Given the description of an element on the screen output the (x, y) to click on. 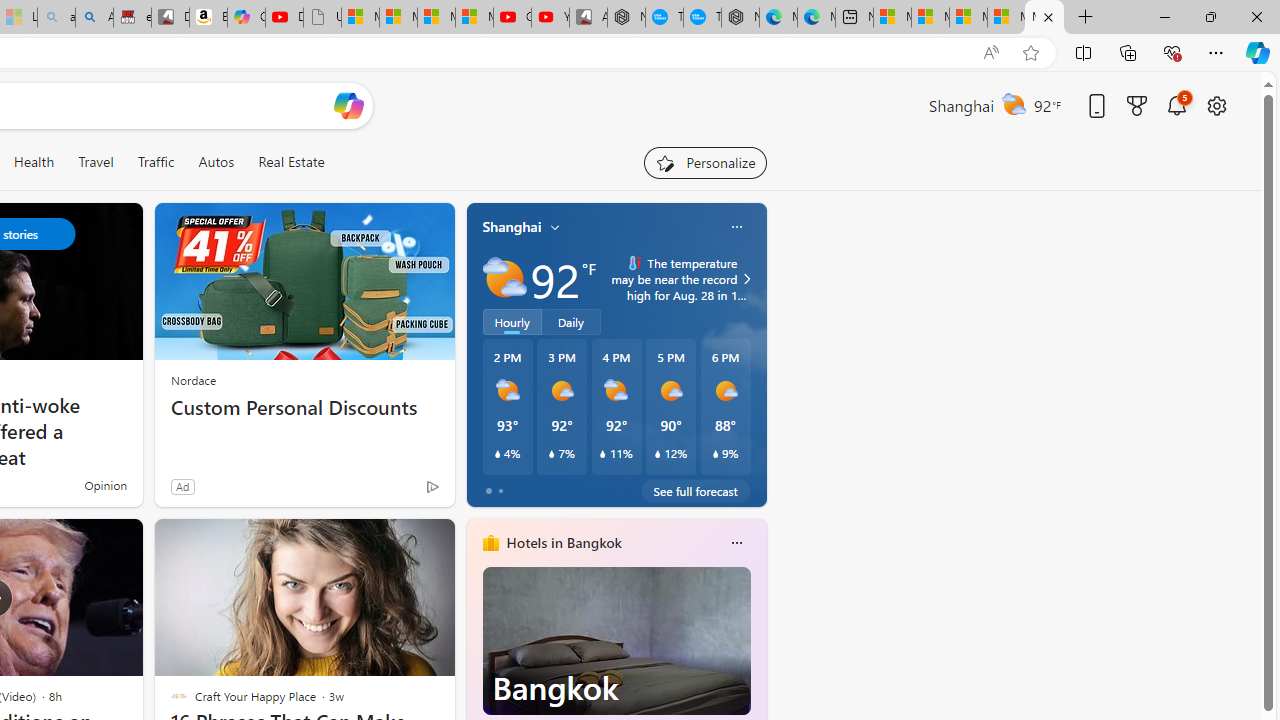
Copilot (245, 17)
Traffic (155, 161)
Hide this story (393, 542)
YouTube Kids - An App Created for Kids to Explore Content (550, 17)
My location (555, 227)
Class: weather-current-precipitation-glyph (715, 453)
Daily (571, 321)
Nordace - My Account (626, 17)
